Given the description of an element on the screen output the (x, y) to click on. 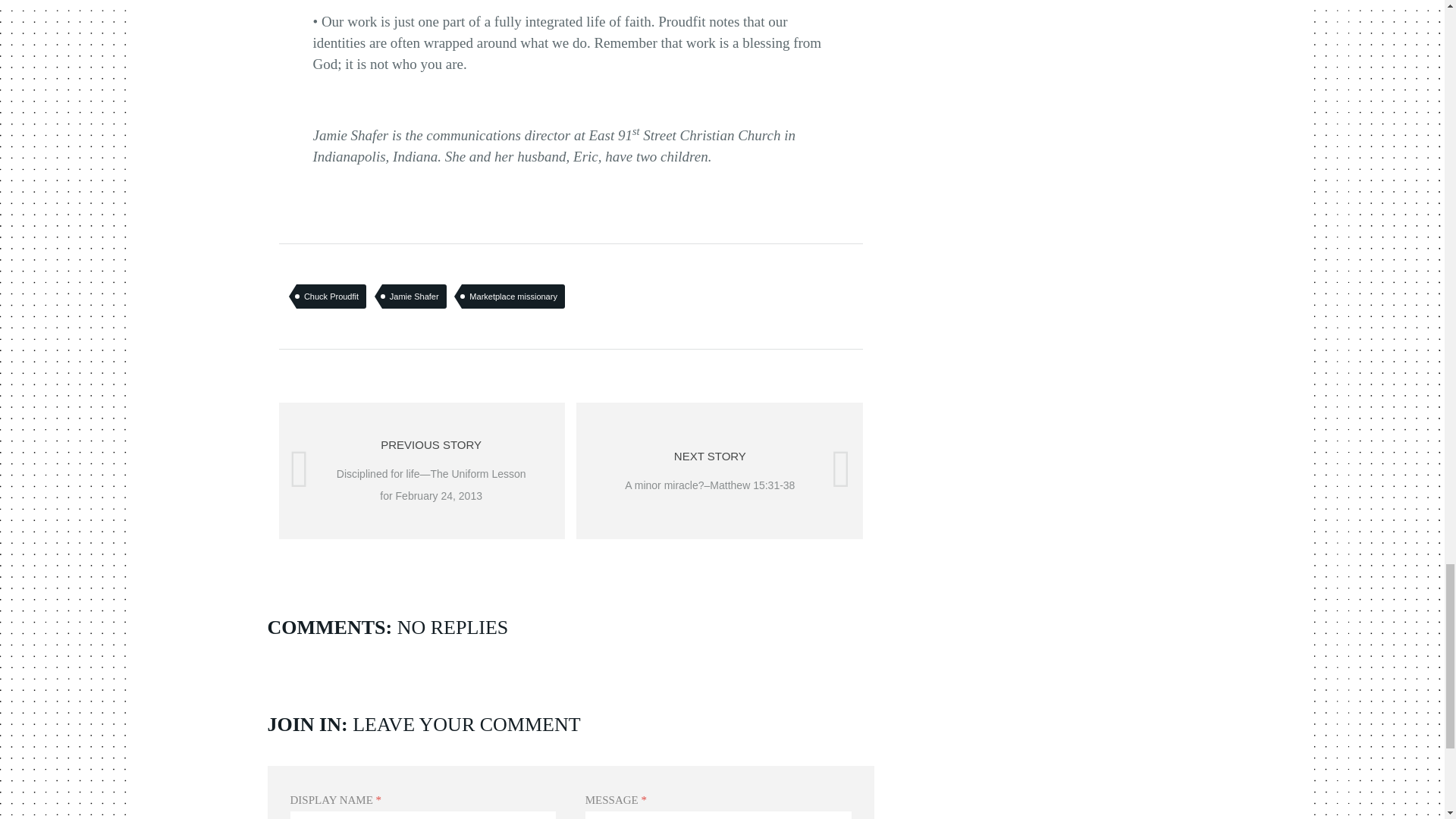
Chuck Proudfit (331, 296)
Marketplace missionary (512, 296)
Jamie Shafer (413, 296)
